Given the description of an element on the screen output the (x, y) to click on. 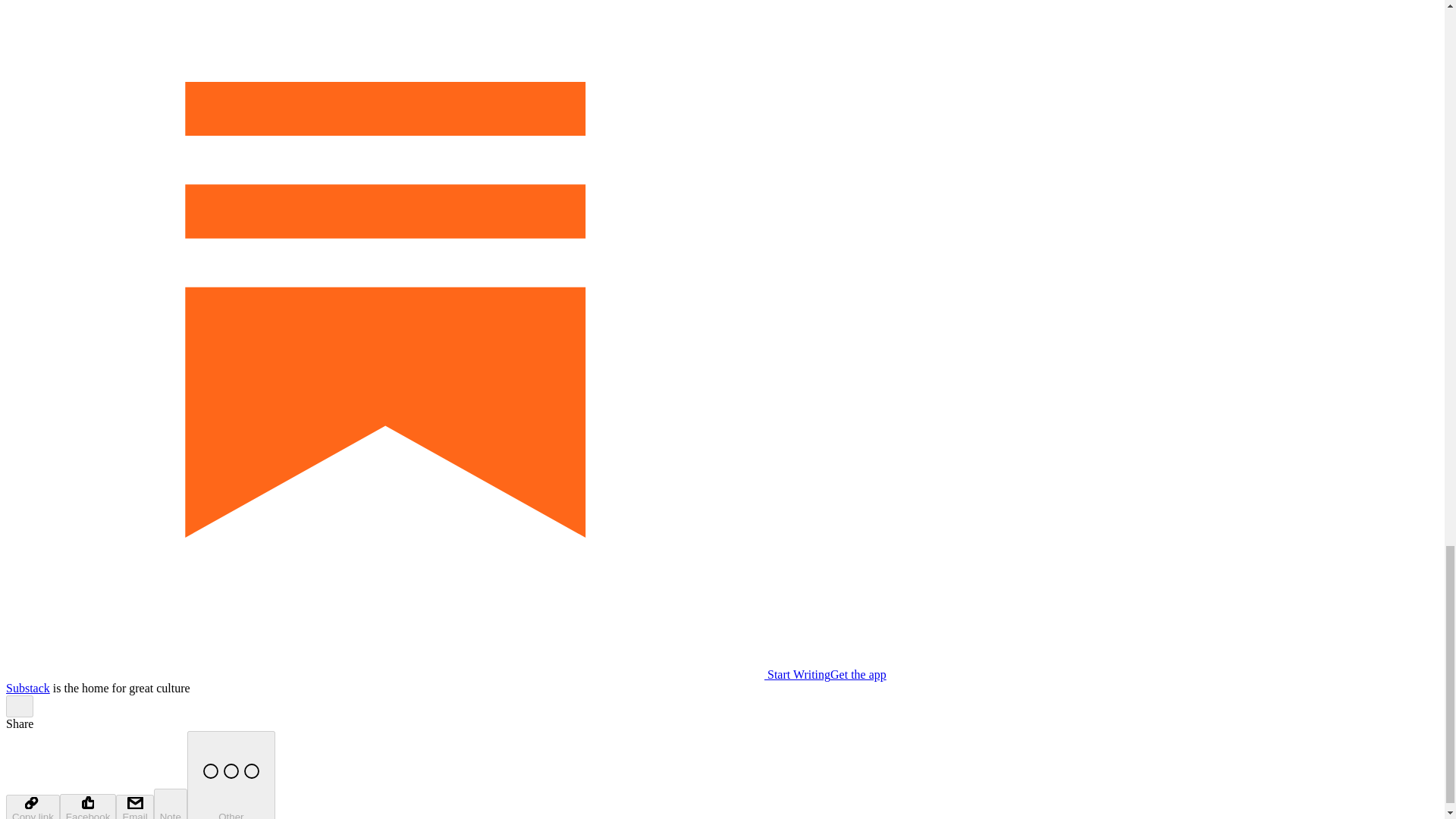
Start Writing (417, 674)
Substack (27, 687)
Get the app (857, 674)
